Given the description of an element on the screen output the (x, y) to click on. 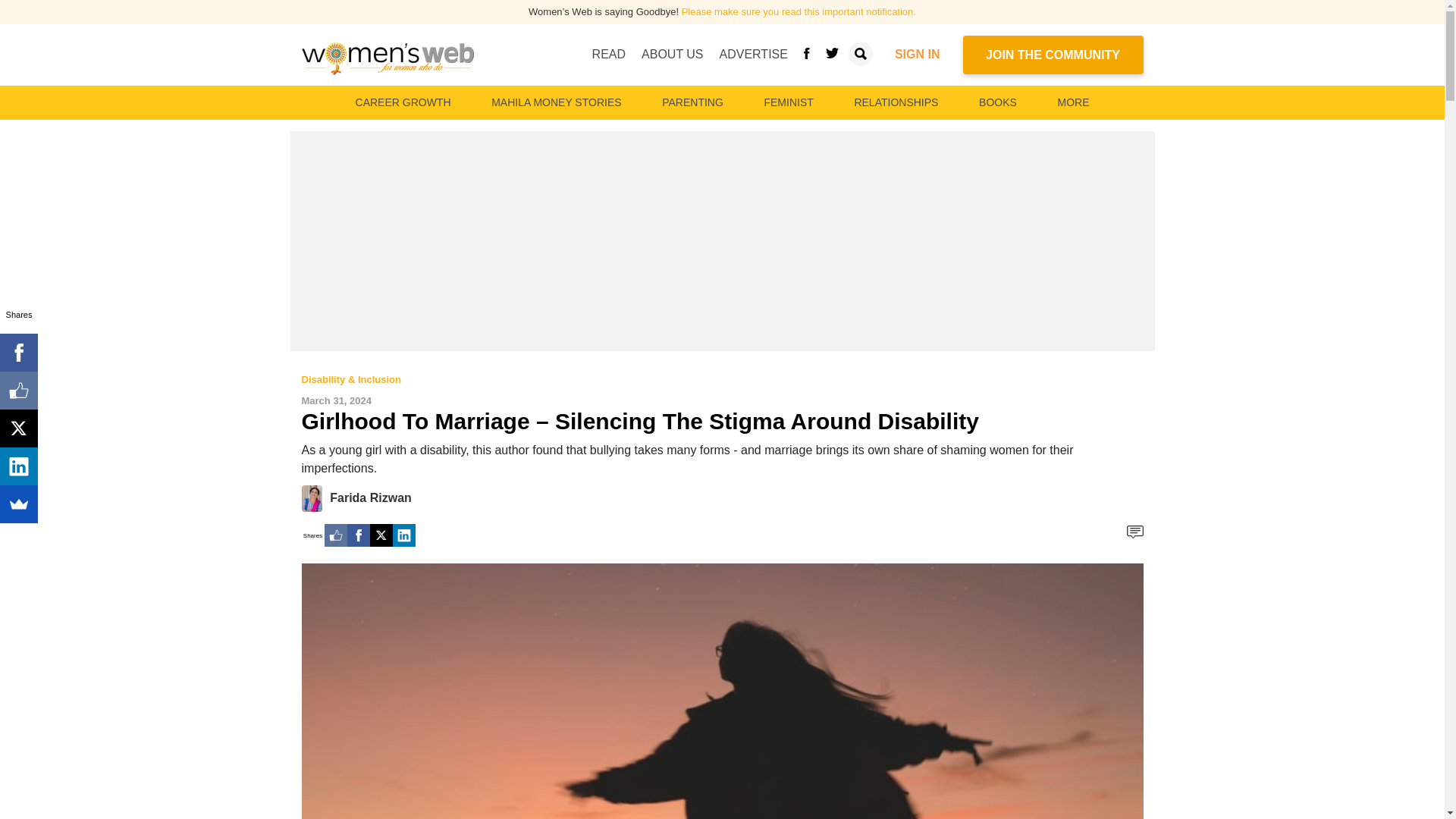
LinkedIn (403, 535)
ADVERTISE (753, 54)
Please make sure you read this important notification. (798, 11)
Facebook Like (335, 535)
PARENTING (691, 102)
Facebook (358, 535)
Farida Rizwan (371, 497)
RELATIONSHIPS (894, 102)
ABOUT US (672, 54)
X (381, 535)
Farida Rizwan (315, 497)
MORE (1072, 102)
MAHILA MONEY STORIES (555, 102)
CAREER GROWTH (402, 102)
